Given the description of an element on the screen output the (x, y) to click on. 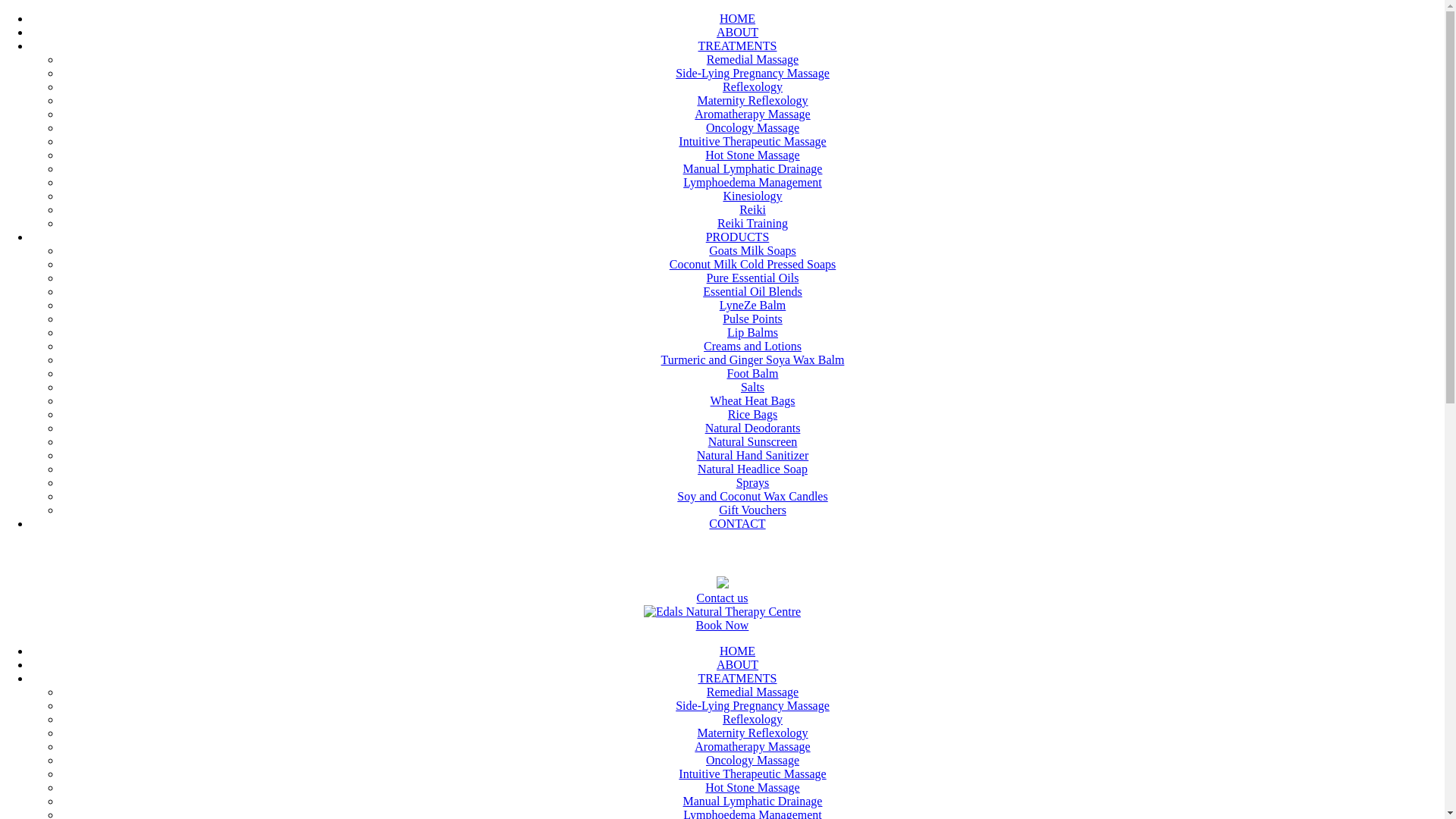
Goats Milk Soaps Element type: text (752, 250)
Remedial Massage Element type: text (752, 691)
Reiki Training Element type: text (752, 222)
Wheat Heat Bags Element type: text (752, 400)
Manual Lymphatic Drainage Element type: text (752, 168)
LyneZe Balm Element type: text (752, 304)
Natural Hand Sanitizer Element type: text (752, 454)
Aromatherapy Massage Element type: text (751, 113)
Pure Essential Oils Element type: text (752, 277)
Hot Stone Massage Element type: text (752, 787)
HOME Element type: text (737, 650)
Oncology Massage Element type: text (752, 127)
Salts Element type: text (752, 386)
Contact us Element type: text (721, 597)
Pulse Points Element type: text (752, 318)
Manual Lymphatic Drainage Element type: text (752, 800)
Coconut Milk Cold Pressed Soaps Element type: text (752, 263)
Kinesiology Element type: text (751, 195)
CONTACT Element type: text (737, 523)
HOME Element type: text (737, 18)
Turmeric and Ginger Soya Wax Balm Element type: text (752, 359)
Intuitive Therapeutic Massage Element type: text (751, 140)
Creams and Lotions Element type: text (752, 345)
Reiki Element type: text (752, 209)
Intuitive Therapeutic Massage Element type: text (751, 773)
Lip Balms Element type: text (752, 332)
Sprays Element type: text (752, 482)
Maternity Reflexology Element type: text (751, 100)
Gift Vouchers Element type: text (752, 509)
Natural Sunscreen Element type: text (752, 441)
Lymphoedema Management Element type: text (752, 181)
Maternity Reflexology Element type: text (751, 732)
TREATMENTS Element type: text (736, 677)
ABOUT Element type: text (737, 664)
Reflexology Element type: text (752, 86)
Aromatherapy Massage Element type: text (751, 746)
Rice Bags Element type: text (752, 413)
Essential Oil Blends Element type: text (752, 291)
Side-Lying Pregnancy Massage Element type: text (752, 705)
Natural Headlice Soap Element type: text (752, 468)
PRODUCTS Element type: text (737, 236)
Remedial Massage Element type: text (752, 59)
Soy and Coconut Wax Candles Element type: text (752, 495)
Foot Balm Element type: text (752, 373)
Reflexology Element type: text (752, 718)
Side-Lying Pregnancy Massage Element type: text (752, 72)
Hot Stone Massage Element type: text (752, 154)
Book Now Element type: text (722, 624)
Natural Deodorants Element type: text (752, 427)
ABOUT Element type: text (737, 31)
TREATMENTS Element type: text (736, 45)
Oncology Massage Element type: text (752, 759)
